Given the description of an element on the screen output the (x, y) to click on. 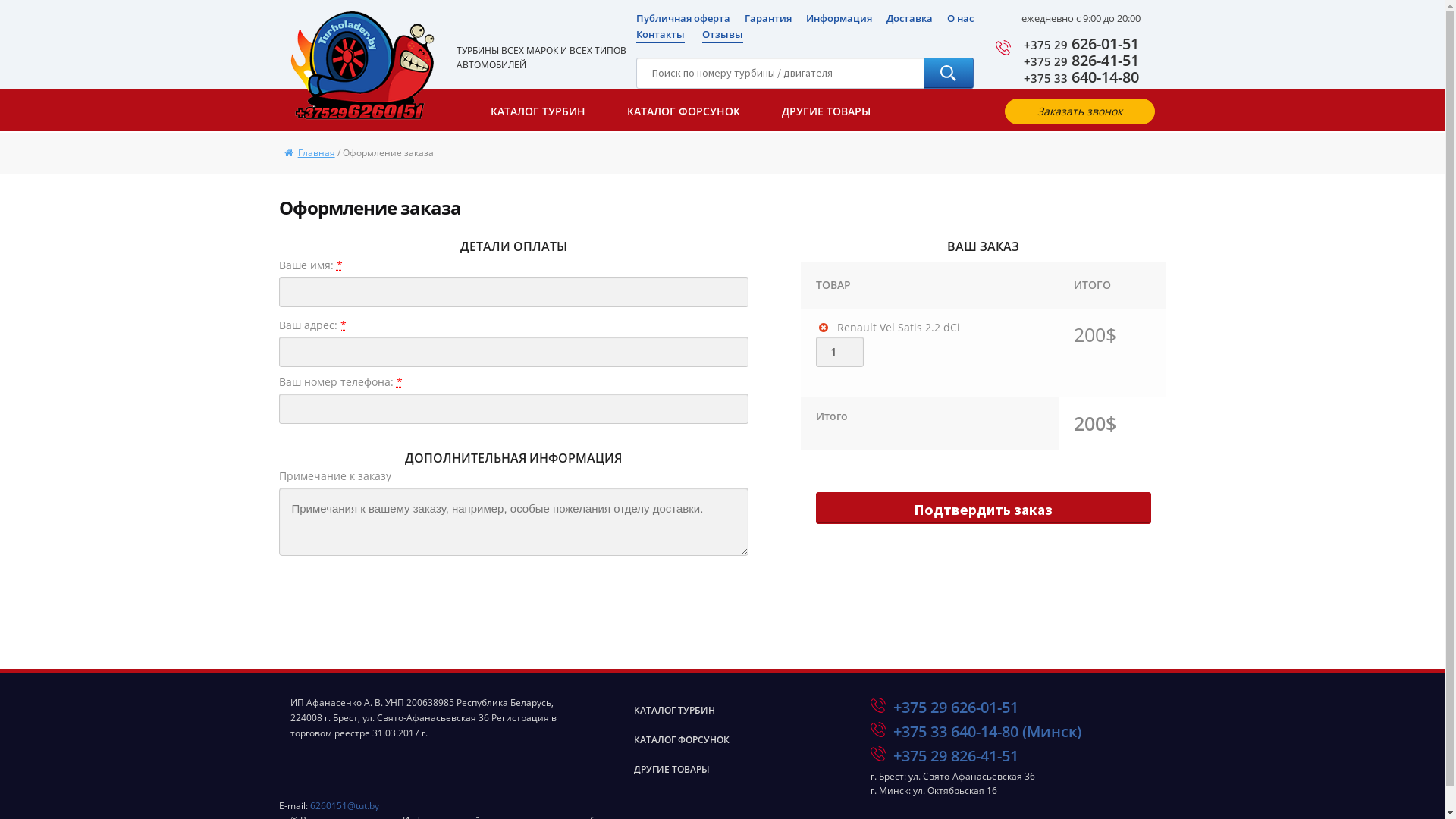
+375 29 626-01-51 Element type: text (1081, 43)
+375 29 826-41-51 Element type: text (1081, 60)
6260151@tut.by Element type: text (343, 805)
+375 33 640-14-80 Element type: text (1081, 76)
+375 29 626-01-51 Element type: text (955, 706)
+375 29 826-41-51 Element type: text (955, 755)
